Given the description of an element on the screen output the (x, y) to click on. 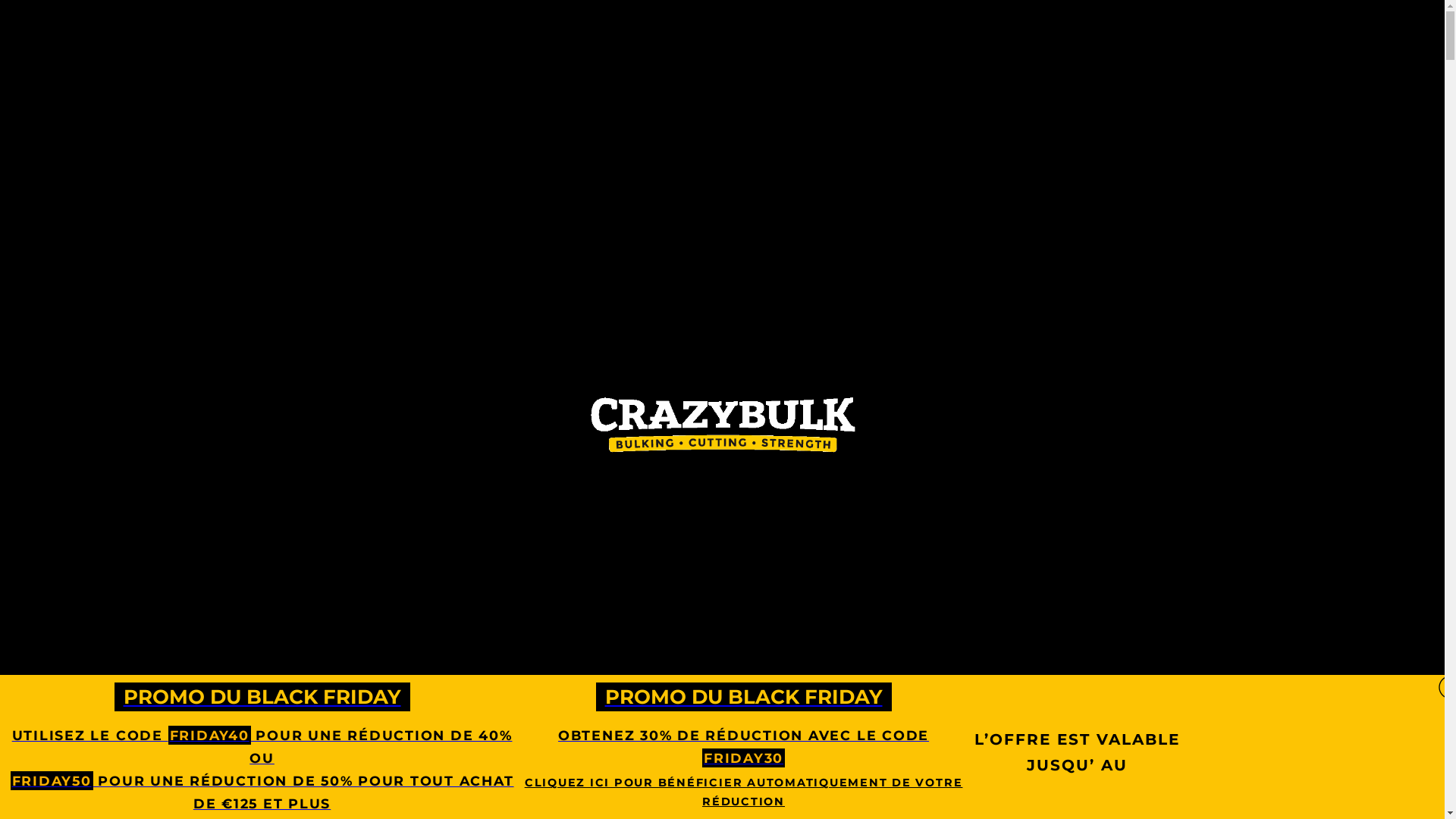
  Denmark
(DKK kr) Element type: text (1336, 327)
PROMOTIONS Element type: text (423, 496)
PACKAGES Element type: text (513, 496)
  Australia
(AUD $) Element type: text (1336, 167)
  Sweden
(SEK kr) Element type: text (1336, 304)
TROUVEZ VOTRE PRODUIT Element type: text (917, 496)
  United States
(USD $) Element type: text (1336, 99)
SARMS Element type: text (687, 496)
Chat Element type: hover (1406, 778)
  Element type: text (1412, 76)
BOUTIQUE Element type: text (1045, 496)
  Canada
(CAD $) Element type: text (1336, 122)
